Given the description of an element on the screen output the (x, y) to click on. 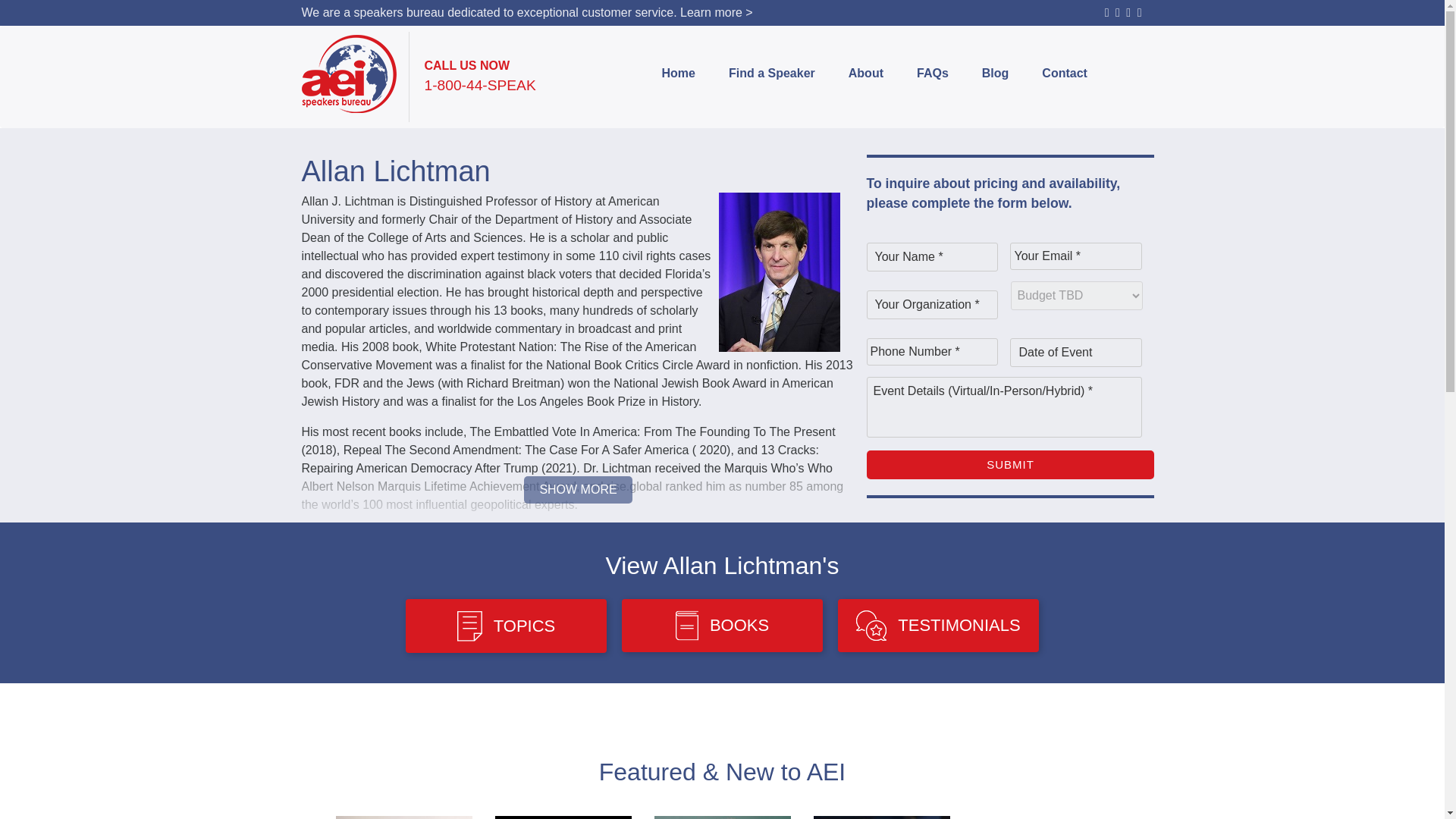
BOOKS (721, 624)
TOPICS (506, 625)
SHOW MORE (577, 489)
Submit (1010, 464)
AEI Speakers Bureau (348, 73)
Find a Speaker (772, 73)
Find a Speaker (772, 73)
Submit (1010, 464)
TESTIMONIALS (938, 624)
1-800-44-SPEAK (480, 86)
